Given the description of an element on the screen output the (x, y) to click on. 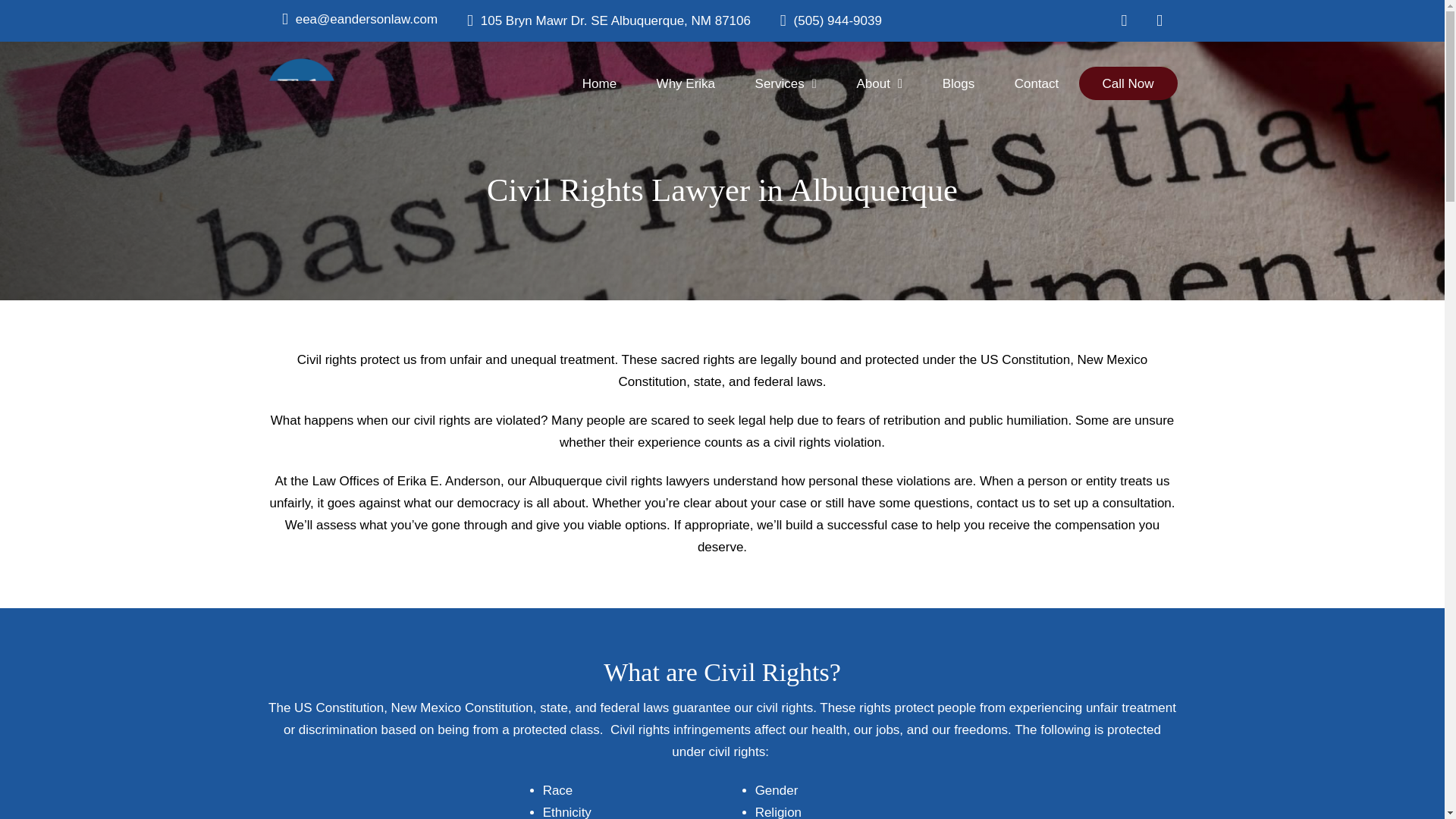
Blogs (957, 83)
105 Bryn Mawr Dr. SE Albuquerque, NM 87106 (608, 20)
About (878, 83)
Home (599, 83)
Services (785, 83)
Why Erika (685, 83)
contact us (1005, 503)
Contact (1036, 83)
Law Offices of Erika E. Anderson (406, 481)
Call Now (1127, 83)
